Given the description of an element on the screen output the (x, y) to click on. 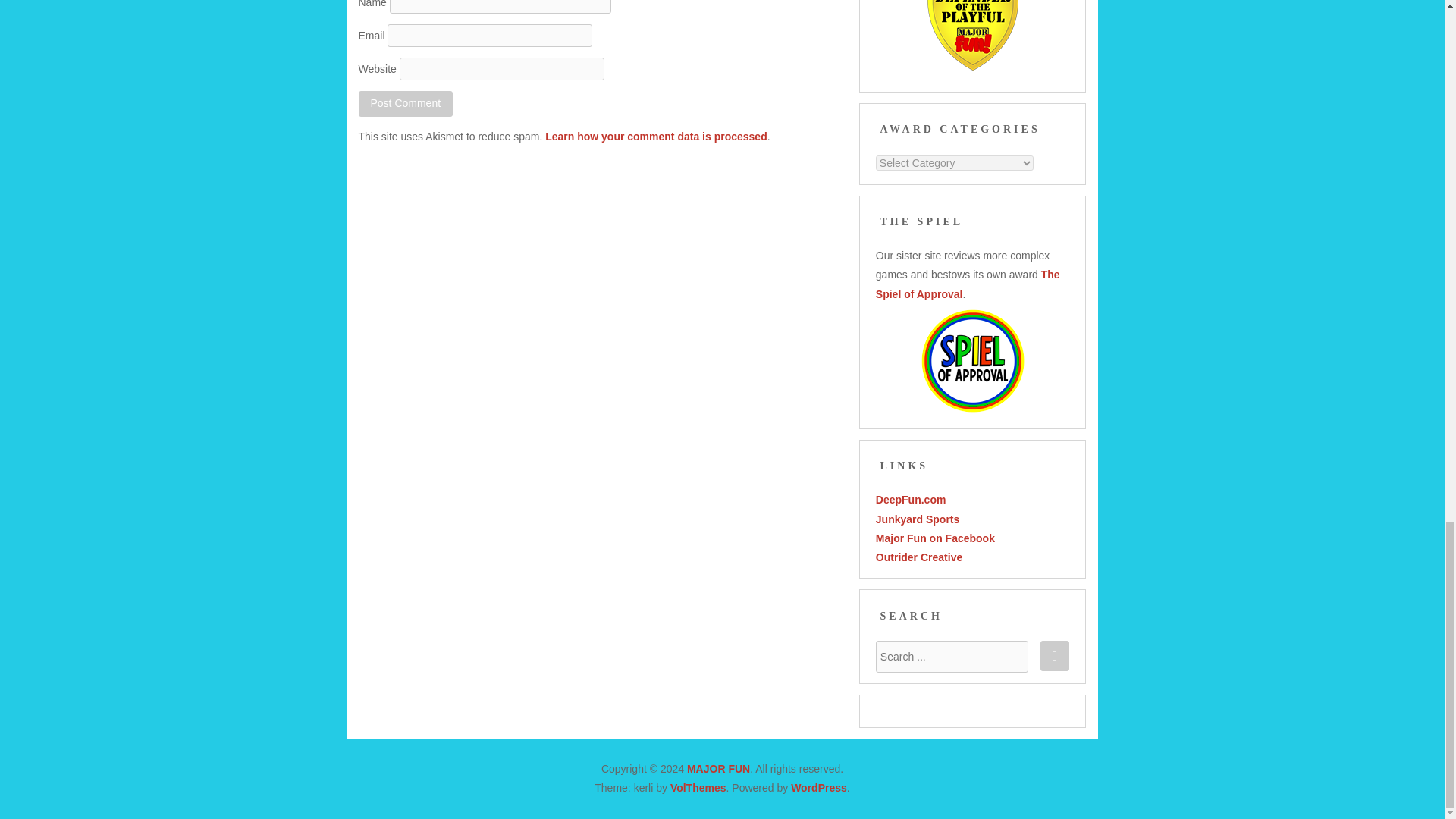
The Spiel of Approval (967, 283)
Post Comment (405, 103)
DeepFun.com (911, 499)
Major Fun on Facebook (935, 538)
Learn how your comment data is processed (655, 136)
Michael, who helped me with this website! (919, 557)
Post Comment (405, 103)
MAJOR FUN (718, 768)
The official Facebook site for the Major Fun Award!! (935, 538)
When the fun gets deep enough, it can heal the world (911, 499)
Junkyard Sports (917, 519)
WordPress (818, 787)
VolThemes (697, 787)
